Given the description of an element on the screen output the (x, y) to click on. 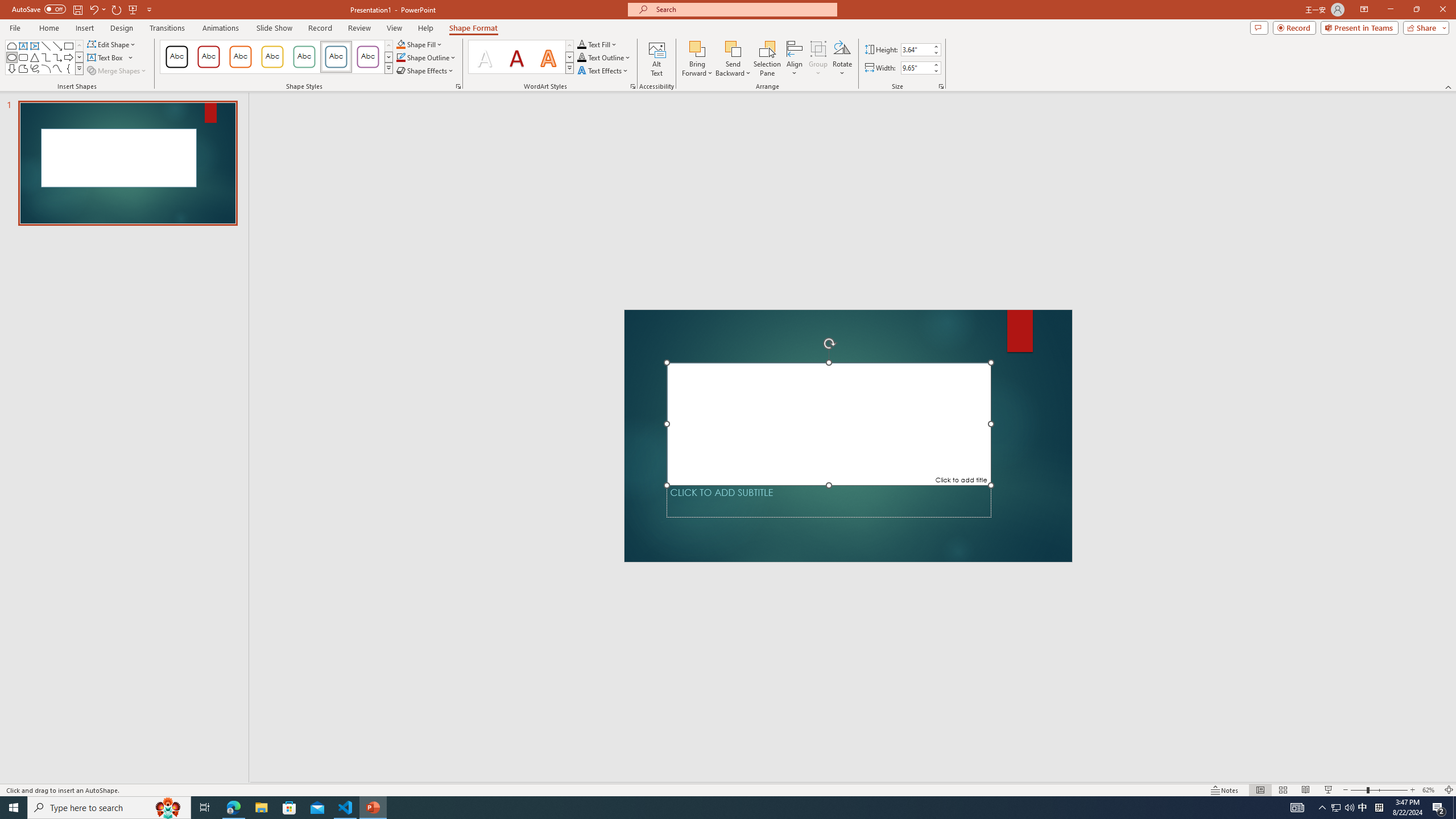
Selection Pane... (767, 58)
Title TextBox (828, 423)
